Given the description of an element on the screen output the (x, y) to click on. 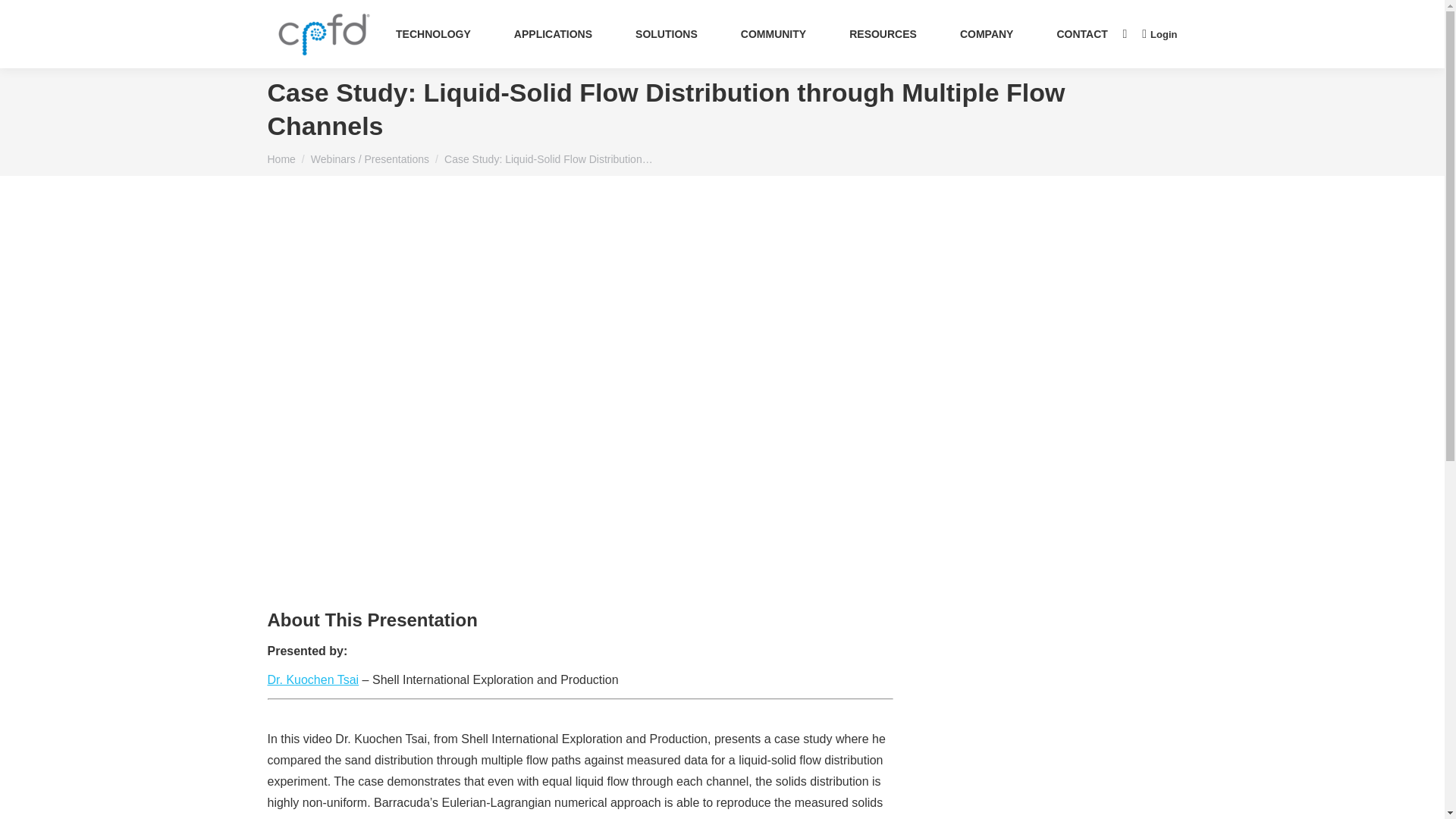
COMPANY (987, 33)
SOLUTIONS (666, 33)
Home (280, 159)
COMMUNITY (772, 33)
APPLICATIONS (552, 33)
TECHNOLOGY (433, 33)
RESOURCES (883, 33)
